Given the description of an element on the screen output the (x, y) to click on. 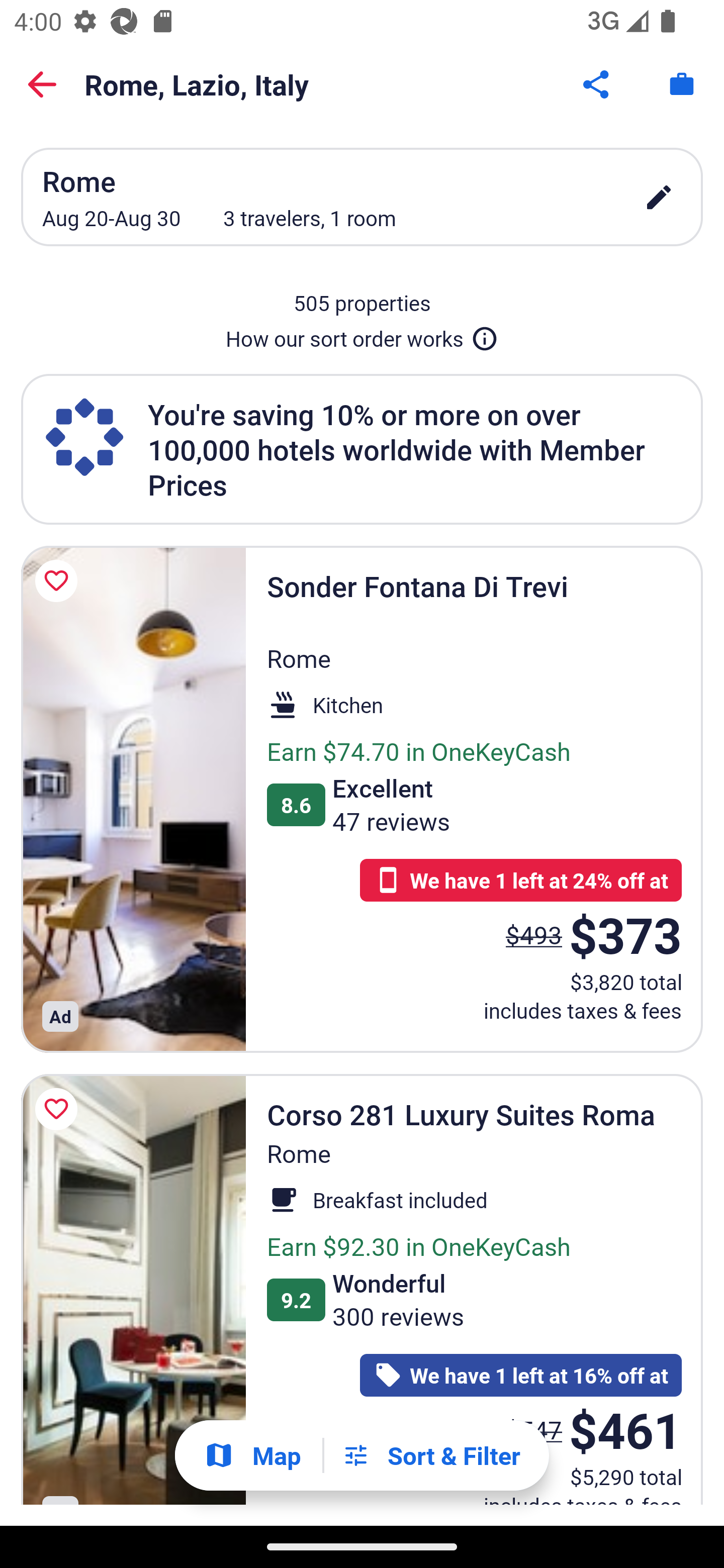
Back (42, 84)
Share Button (597, 84)
Trips. Button (681, 84)
Rome Aug 20-Aug 30 3 travelers, 1 room edit (361, 196)
How our sort order works (361, 334)
Save Sonder Fontana Di Trevi to a trip (59, 580)
Sonder Fontana Di Trevi (133, 798)
$493 The price was $493 (533, 934)
Save Corso 281 Luxury Suites Roma to a trip (59, 1108)
Corso 281 Luxury Suites Roma (133, 1289)
Filters Sort & Filter Filters Button (430, 1455)
Show map Map Show map Button (252, 1455)
